Given the description of an element on the screen output the (x, y) to click on. 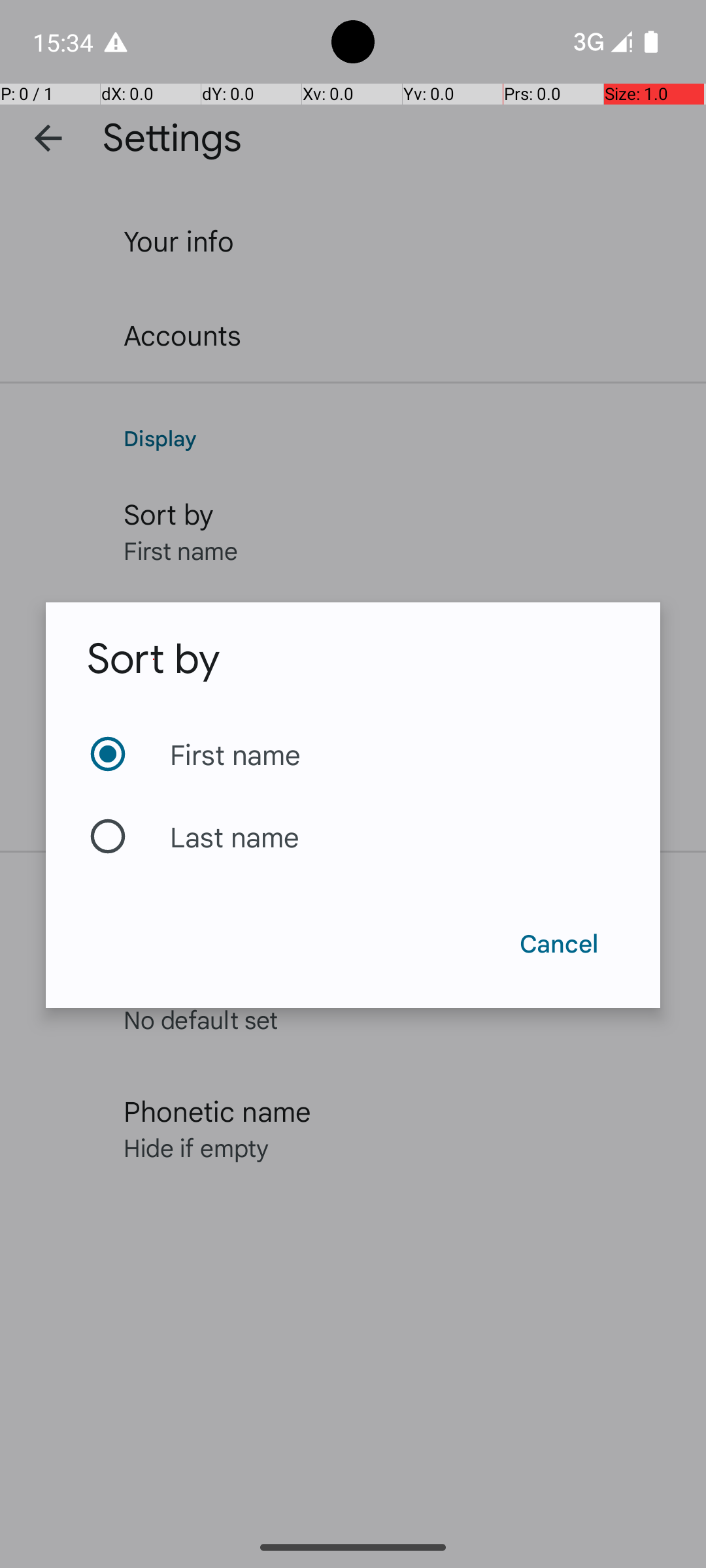
Sort by Element type: android.widget.TextView (153, 659)
First name Element type: android.widget.CheckedTextView (352, 753)
Last name Element type: android.widget.CheckedTextView (352, 836)
